Given the description of an element on the screen output the (x, y) to click on. 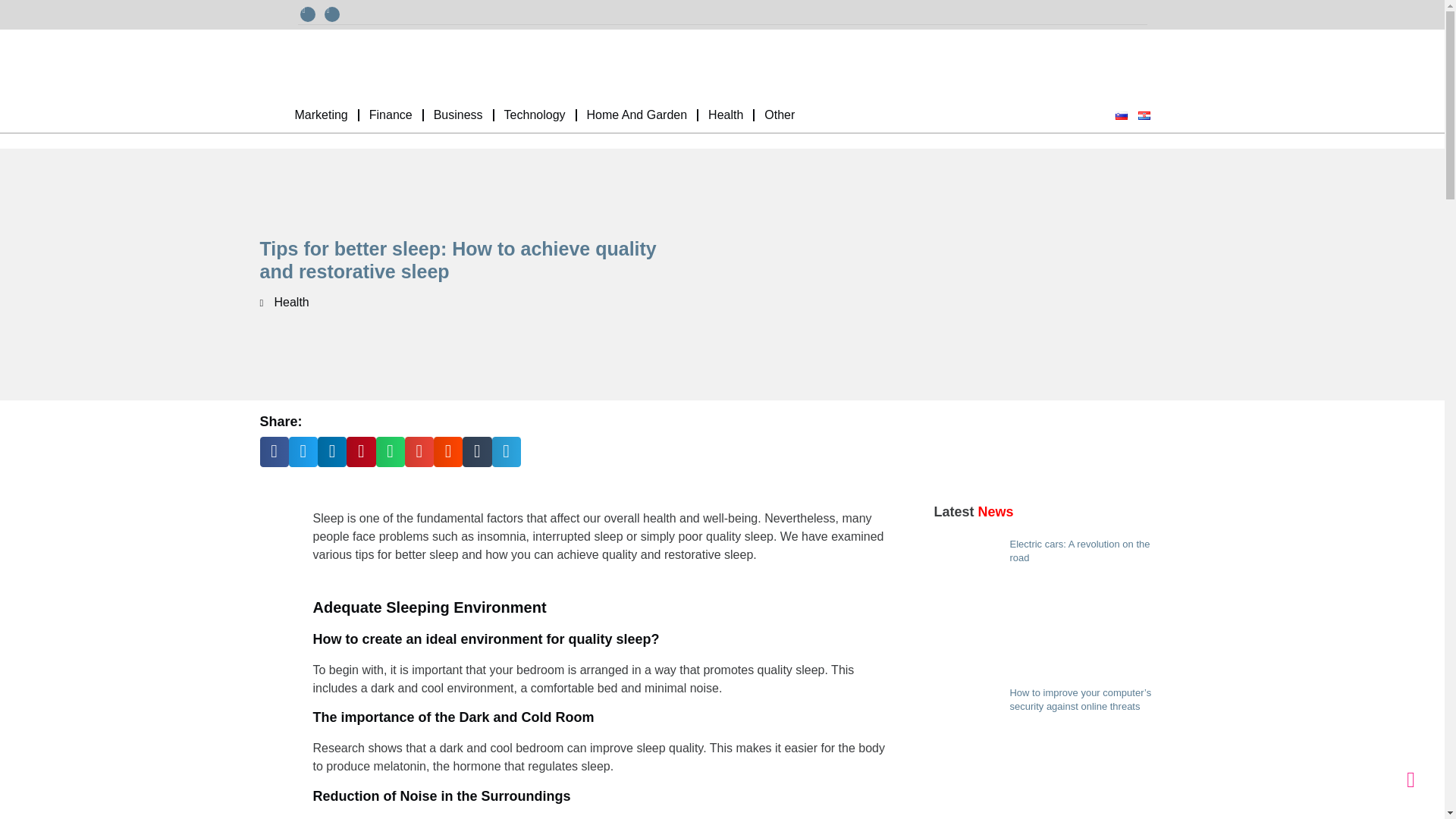
Finance (390, 114)
Marketing (321, 114)
Technology (535, 114)
Home And Garden (636, 114)
Health (725, 114)
Other (779, 114)
Business (458, 114)
